Given the description of an element on the screen output the (x, y) to click on. 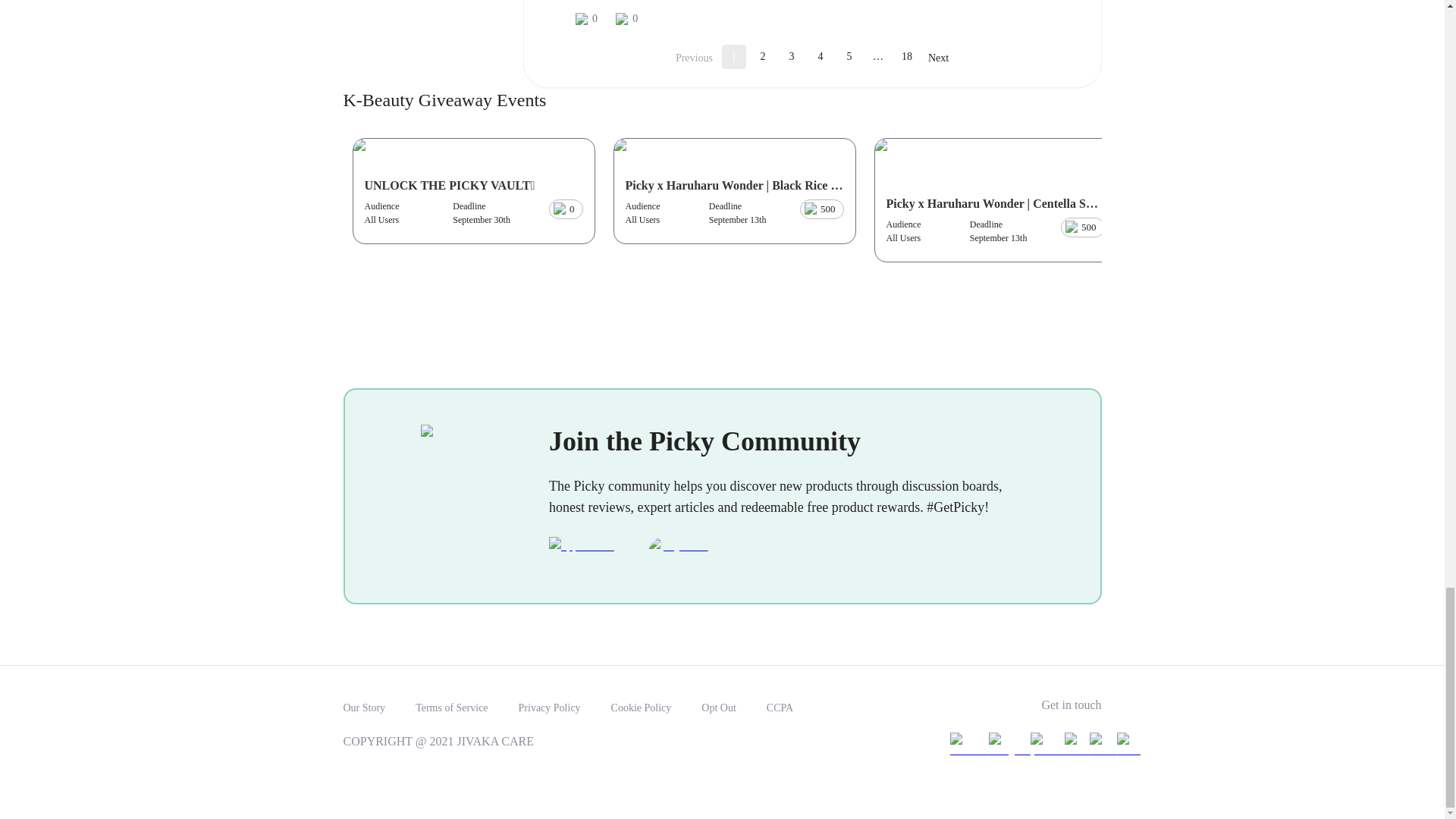
3 (790, 56)
2 (762, 56)
1 (733, 56)
